Given the description of an element on the screen output the (x, y) to click on. 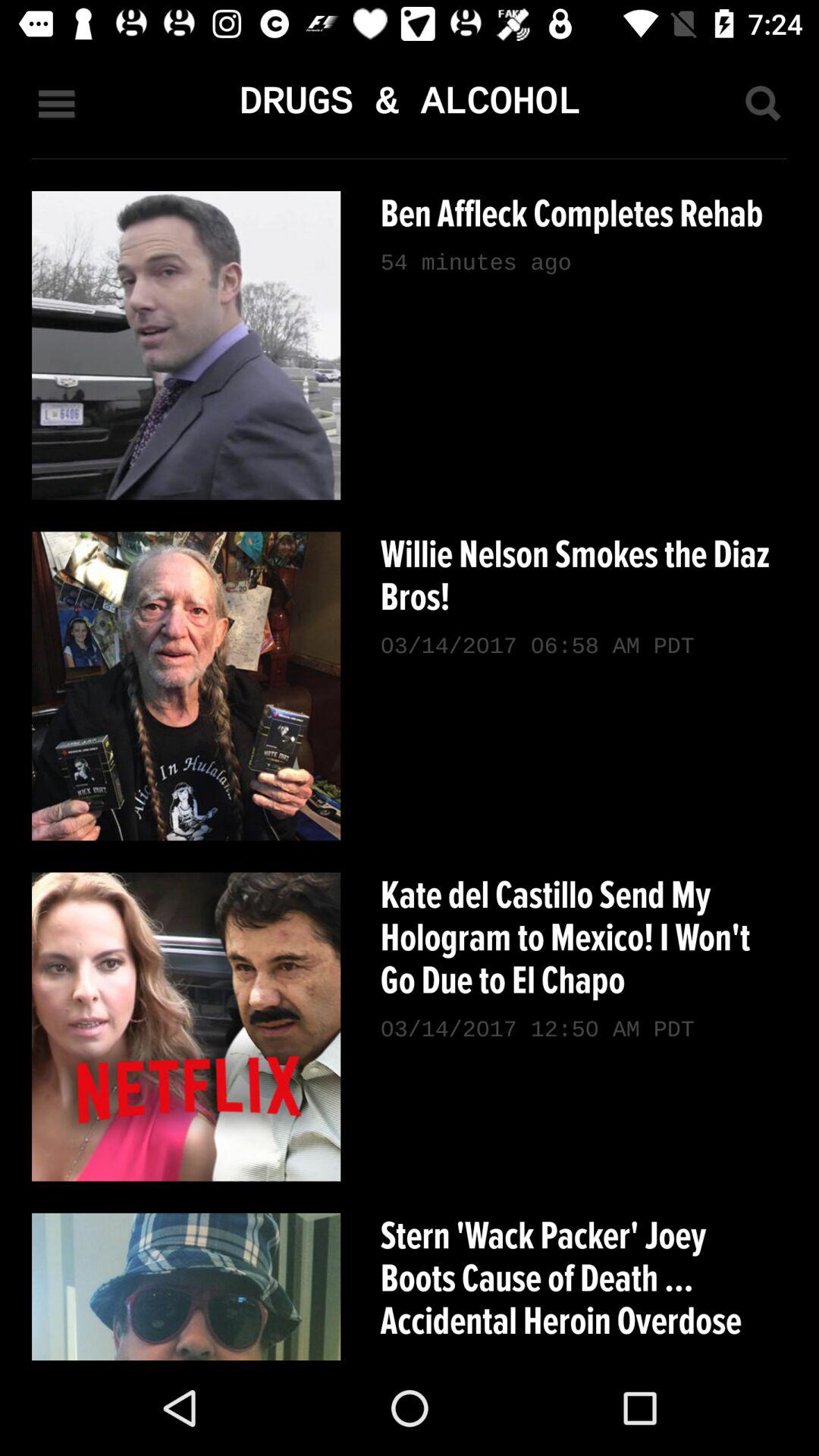
jump until drugs & alcohol (409, 103)
